Given the description of an element on the screen output the (x, y) to click on. 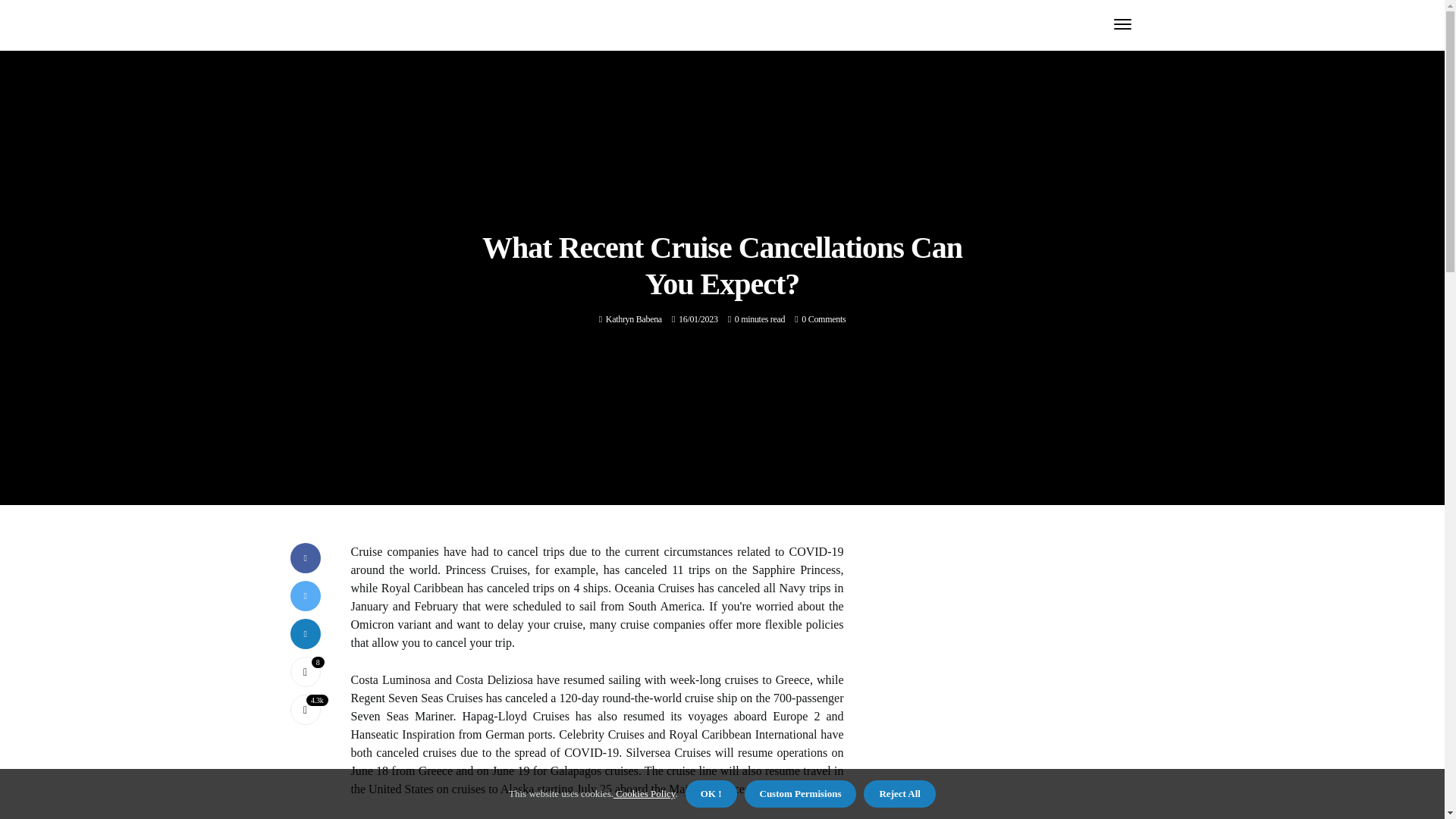
8 (304, 671)
Kathryn Babena (633, 318)
Like (304, 671)
Posts by Kathryn Babena (633, 318)
0 Comments (823, 318)
